Given the description of an element on the screen output the (x, y) to click on. 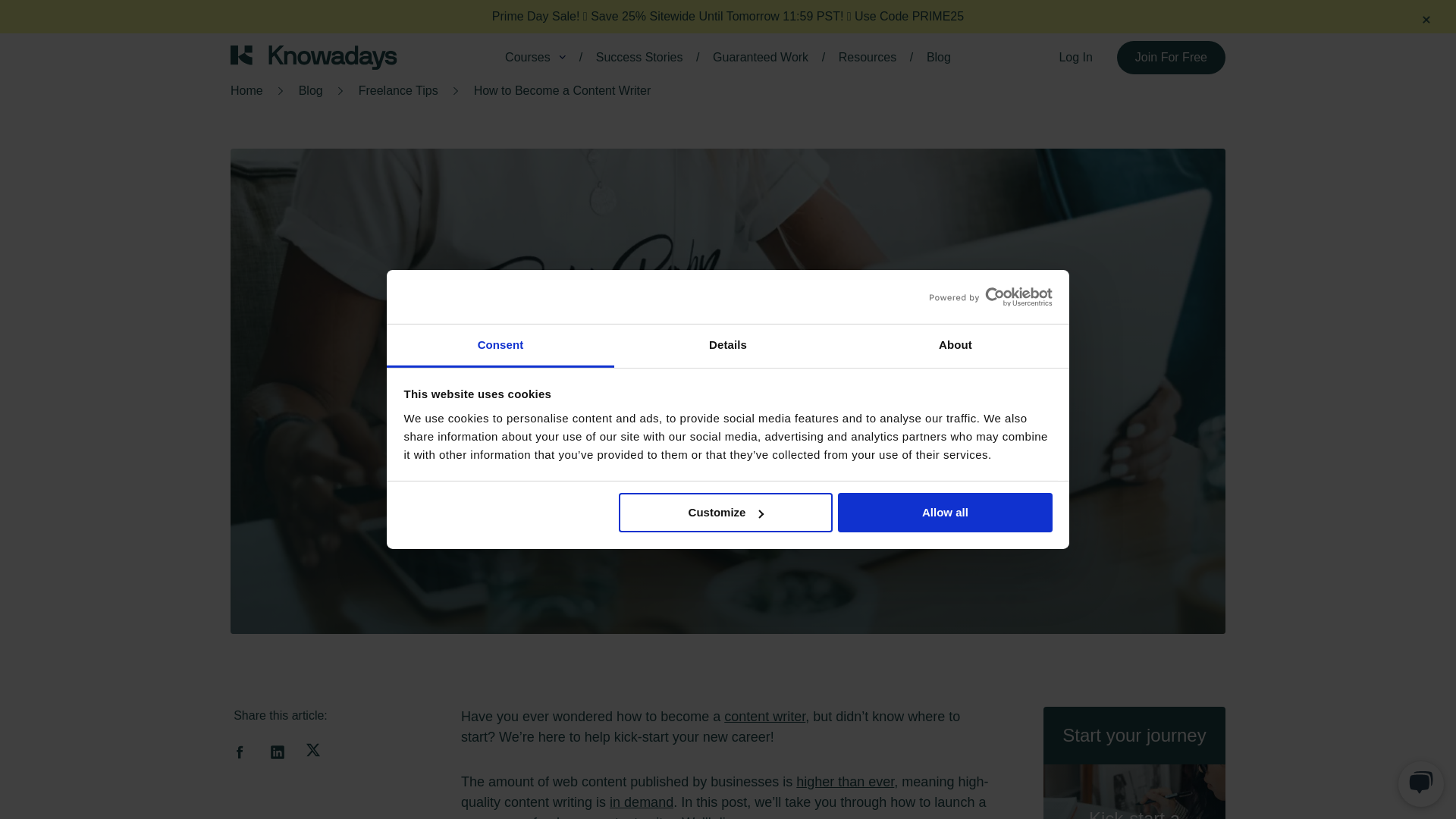
About (954, 345)
Details (727, 345)
Consent (500, 345)
